Given the description of an element on the screen output the (x, y) to click on. 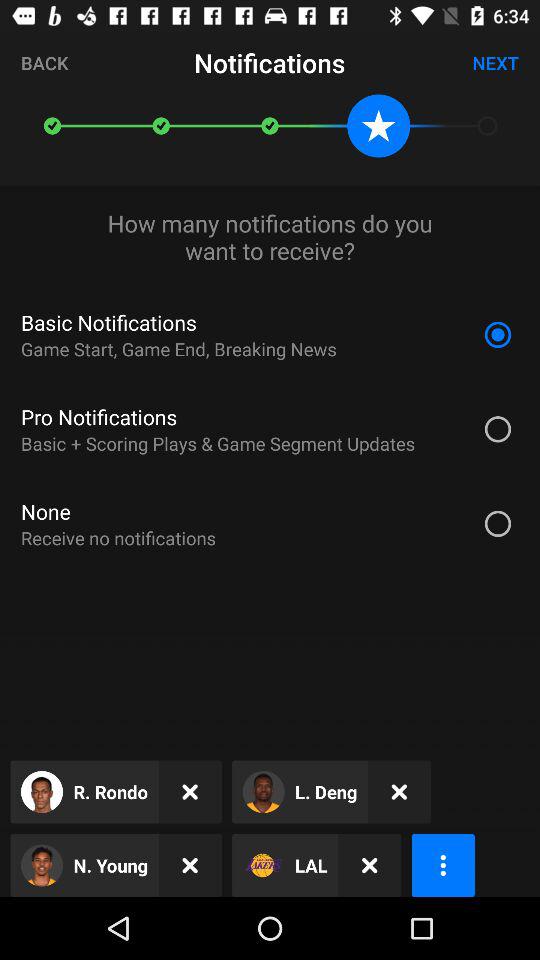
scroll until back (44, 62)
